Given the description of an element on the screen output the (x, y) to click on. 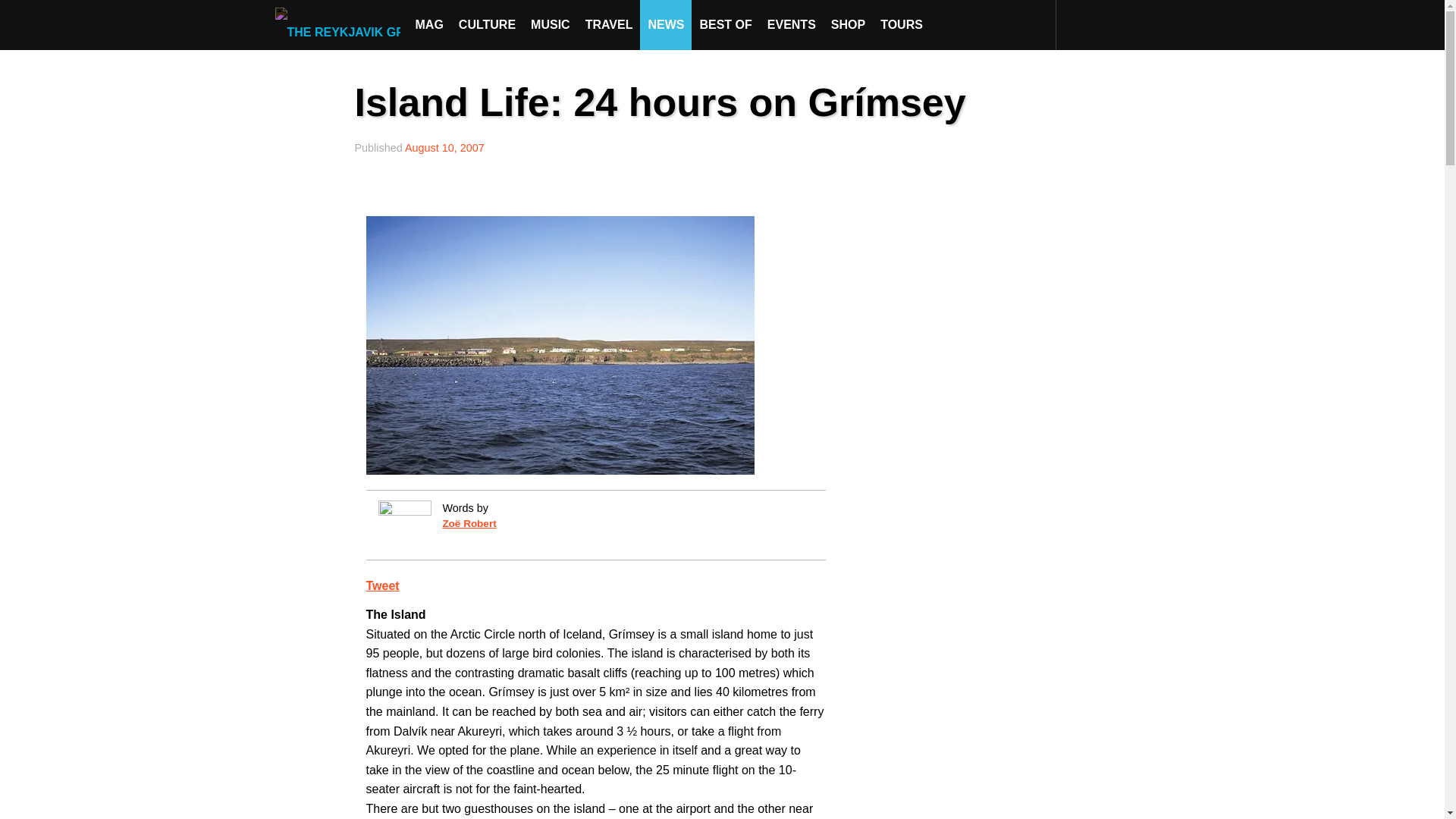
NEWS (665, 24)
CULTURE (486, 24)
BEST OF (724, 24)
EVENTS (792, 24)
The Reykjavik Grapevine (341, 24)
TRAVEL (609, 24)
MUSIC (550, 24)
Tweet (381, 585)
SHOP (848, 24)
TOURS (901, 24)
